Given the description of an element on the screen output the (x, y) to click on. 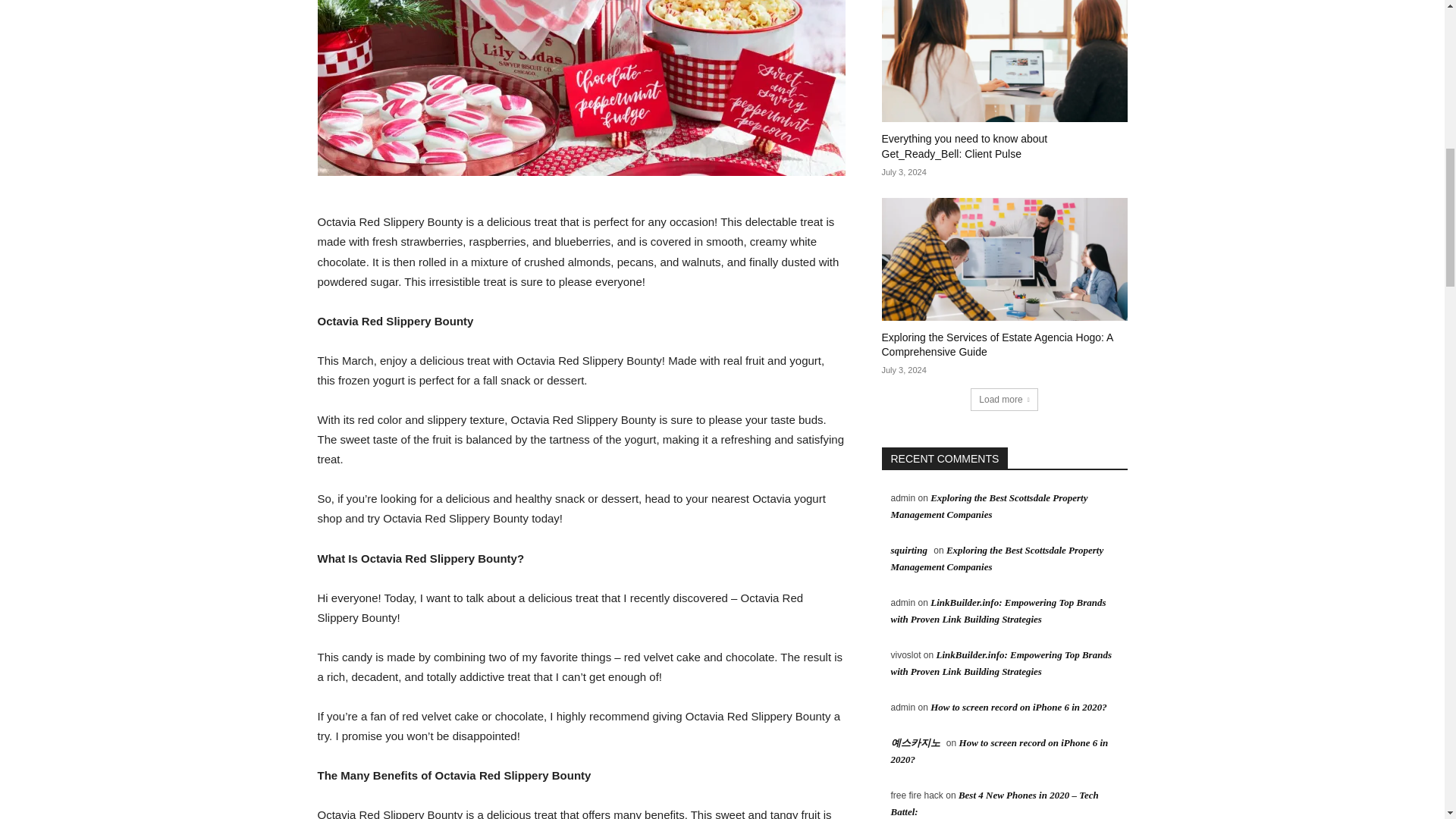
Octavia Red Slippery Bounty (580, 88)
